Given the description of an element on the screen output the (x, y) to click on. 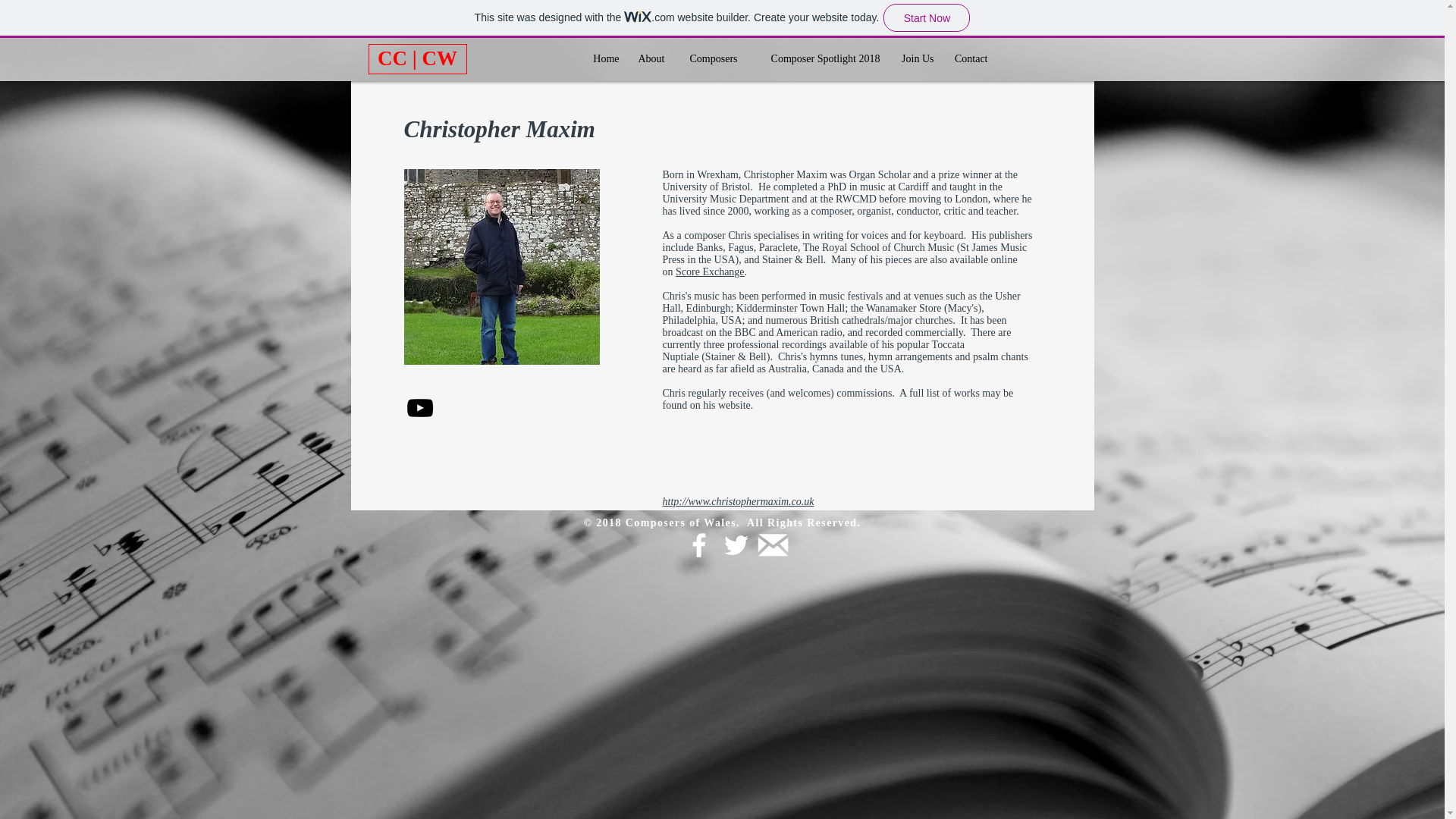
About (648, 59)
Score Exchange (709, 271)
Contact (968, 59)
Composer Spotlight 2018 (815, 59)
Home (603, 59)
Composers (707, 59)
Join Us (913, 59)
